Given the description of an element on the screen output the (x, y) to click on. 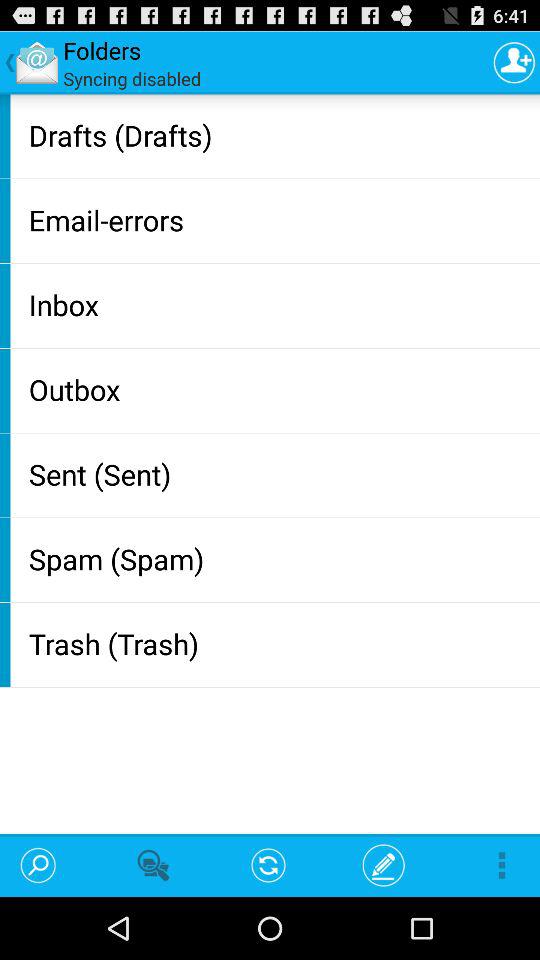
scroll until inbox icon (280, 304)
